Given the description of an element on the screen output the (x, y) to click on. 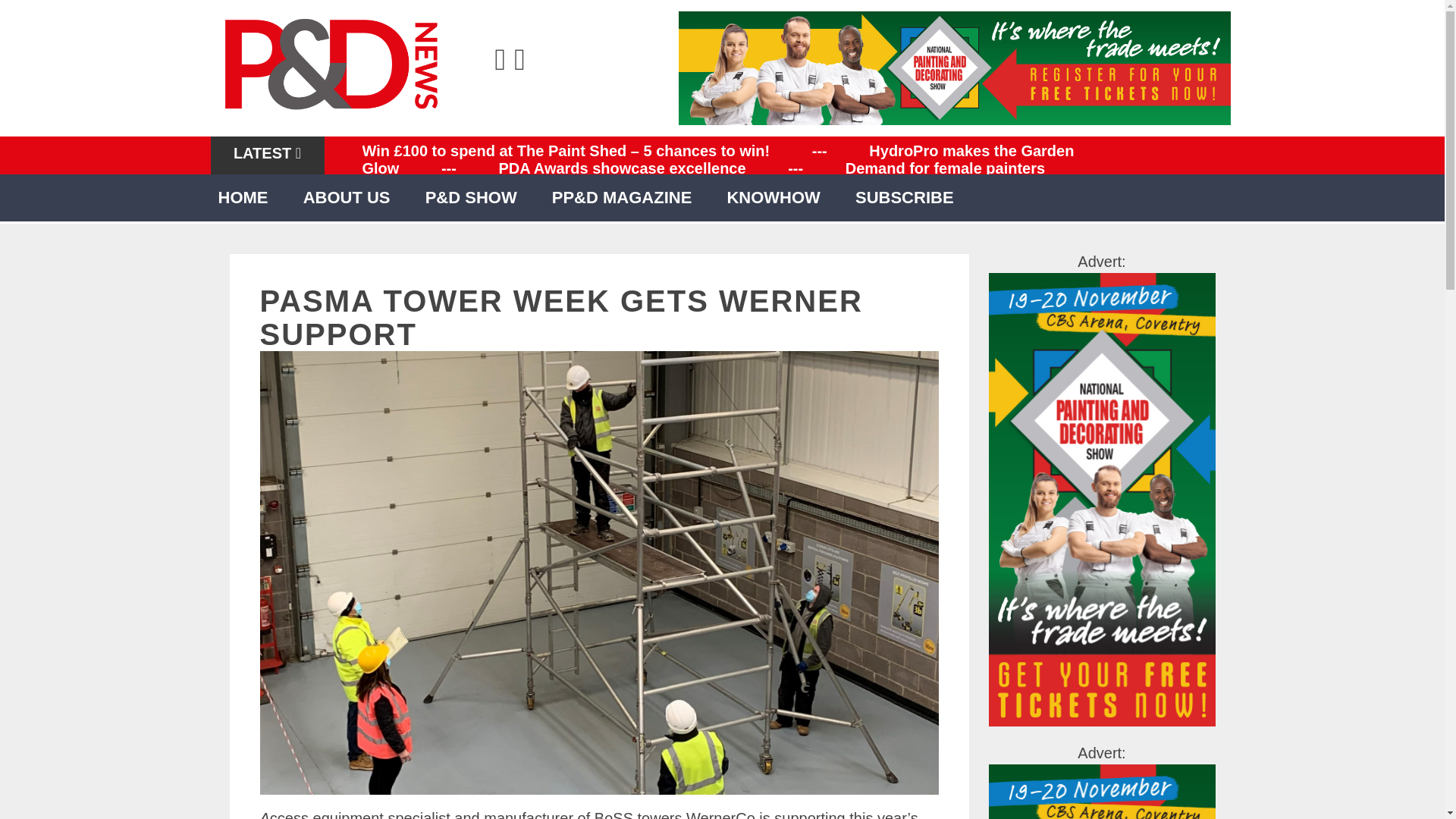
--- (795, 167)
--- (449, 167)
PDA Awards showcase excellence (622, 167)
--- (819, 150)
HydroPro makes the Garden Glow (718, 159)
